Given the description of an element on the screen output the (x, y) to click on. 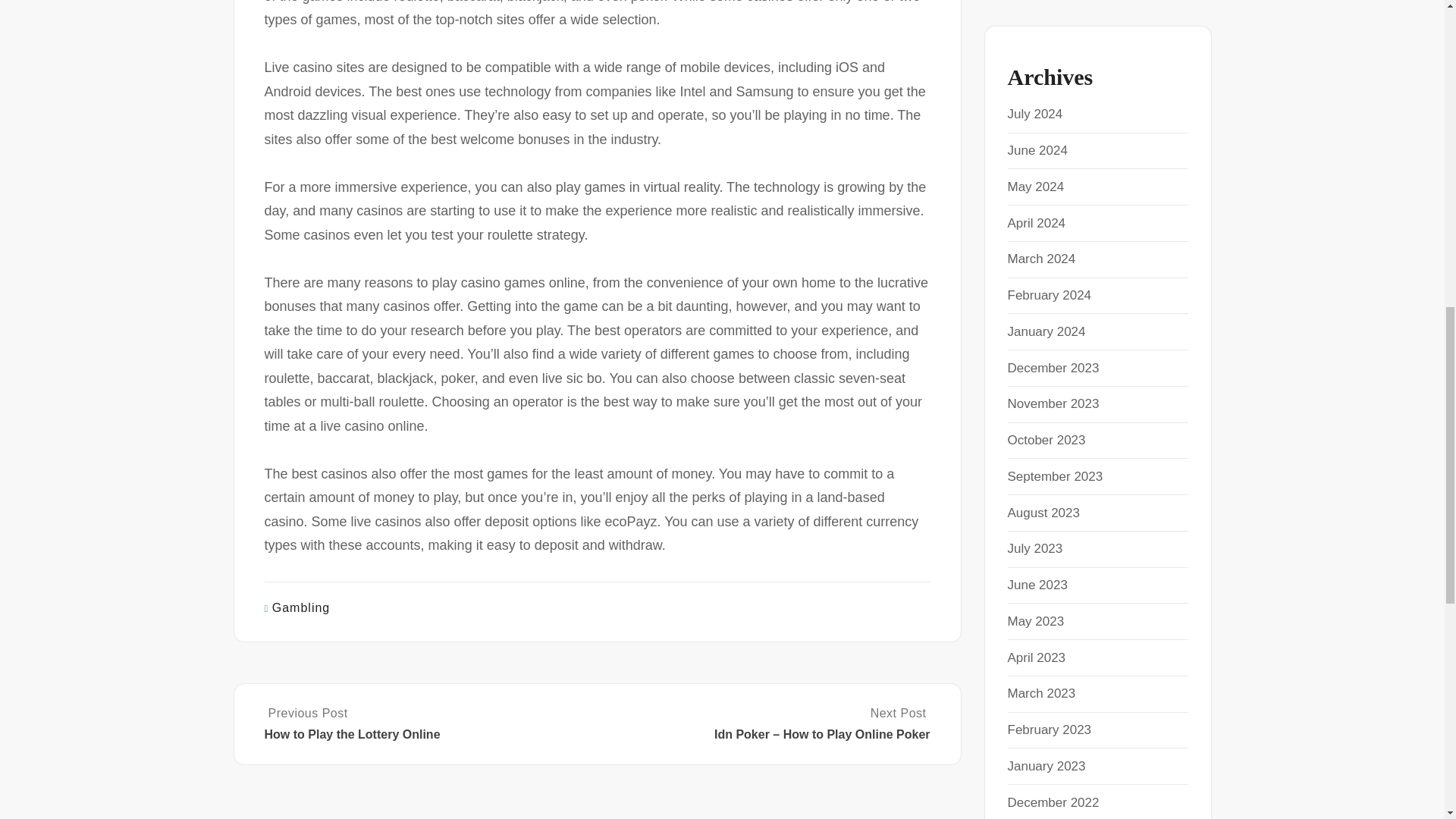
March 2023 (1041, 693)
April 2023 (1036, 657)
February 2023 (1048, 729)
September 2023 (1054, 476)
March 2024 (1041, 258)
December 2023 (1053, 368)
January 2023 (1045, 766)
January 2024 (1045, 331)
June 2023 (1037, 585)
Gambling (301, 607)
July 2023 (1034, 548)
July 2024 (1034, 114)
December 2022 (1053, 802)
June 2024 (1037, 150)
